Given the description of an element on the screen output the (x, y) to click on. 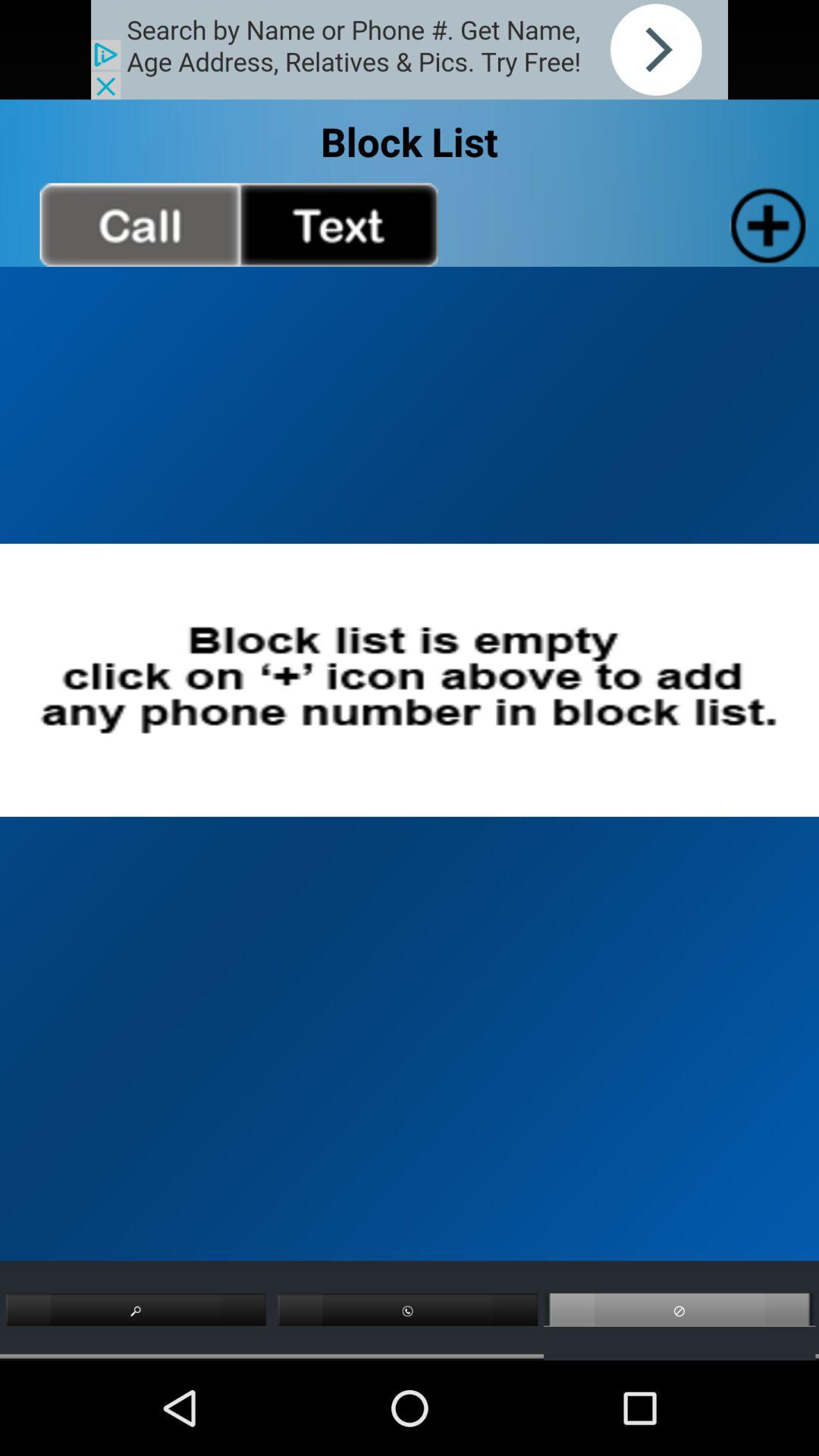
view advertisement (409, 49)
